Given the description of an element on the screen output the (x, y) to click on. 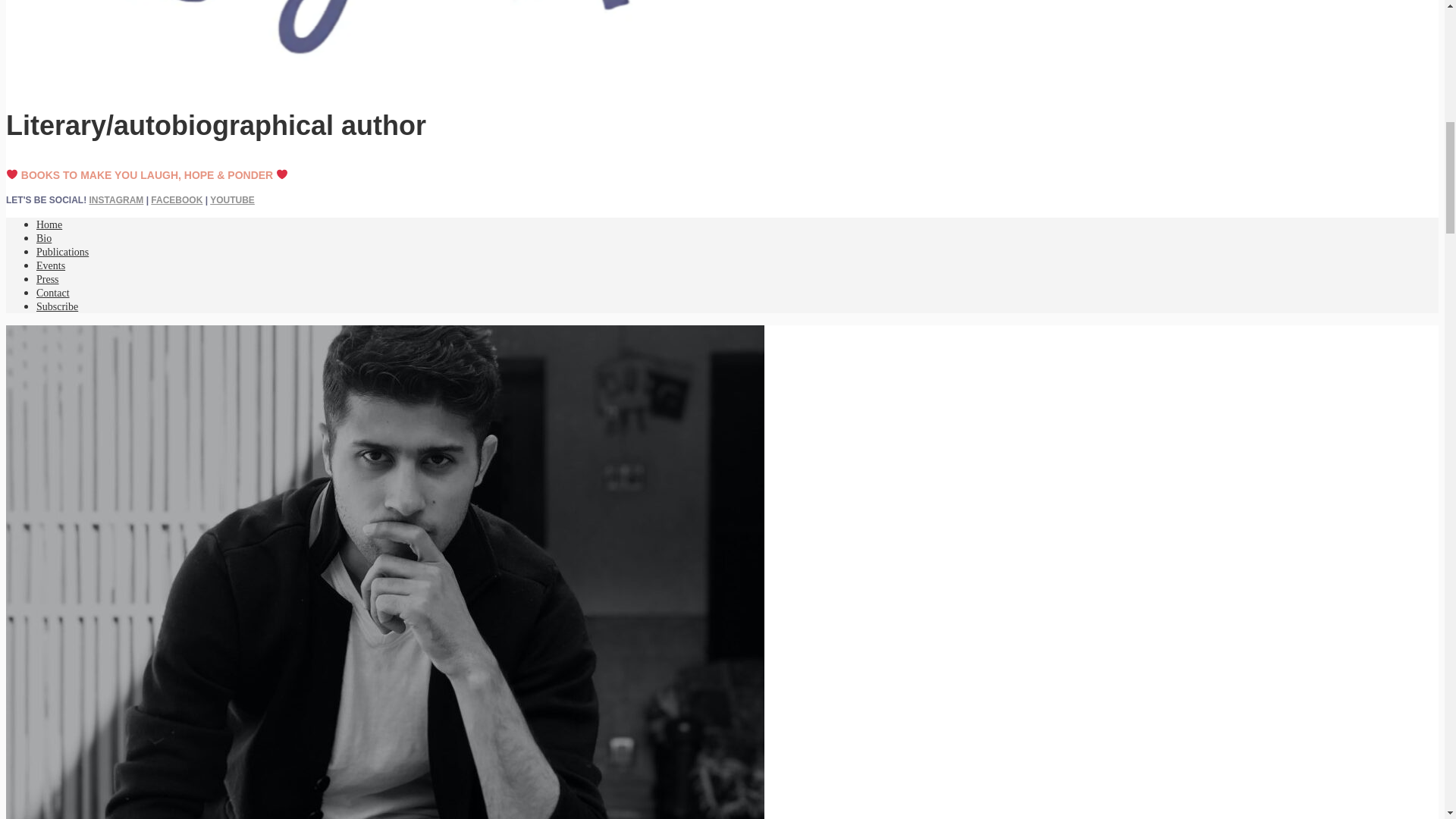
Bio (43, 238)
YOUTUBE (231, 199)
Events (50, 265)
Home (49, 224)
INSTAGRAM (116, 199)
Press (47, 279)
Publications (62, 251)
FACEBOOK (176, 199)
Subscribe (57, 306)
Contact (52, 292)
